Given the description of an element on the screen output the (x, y) to click on. 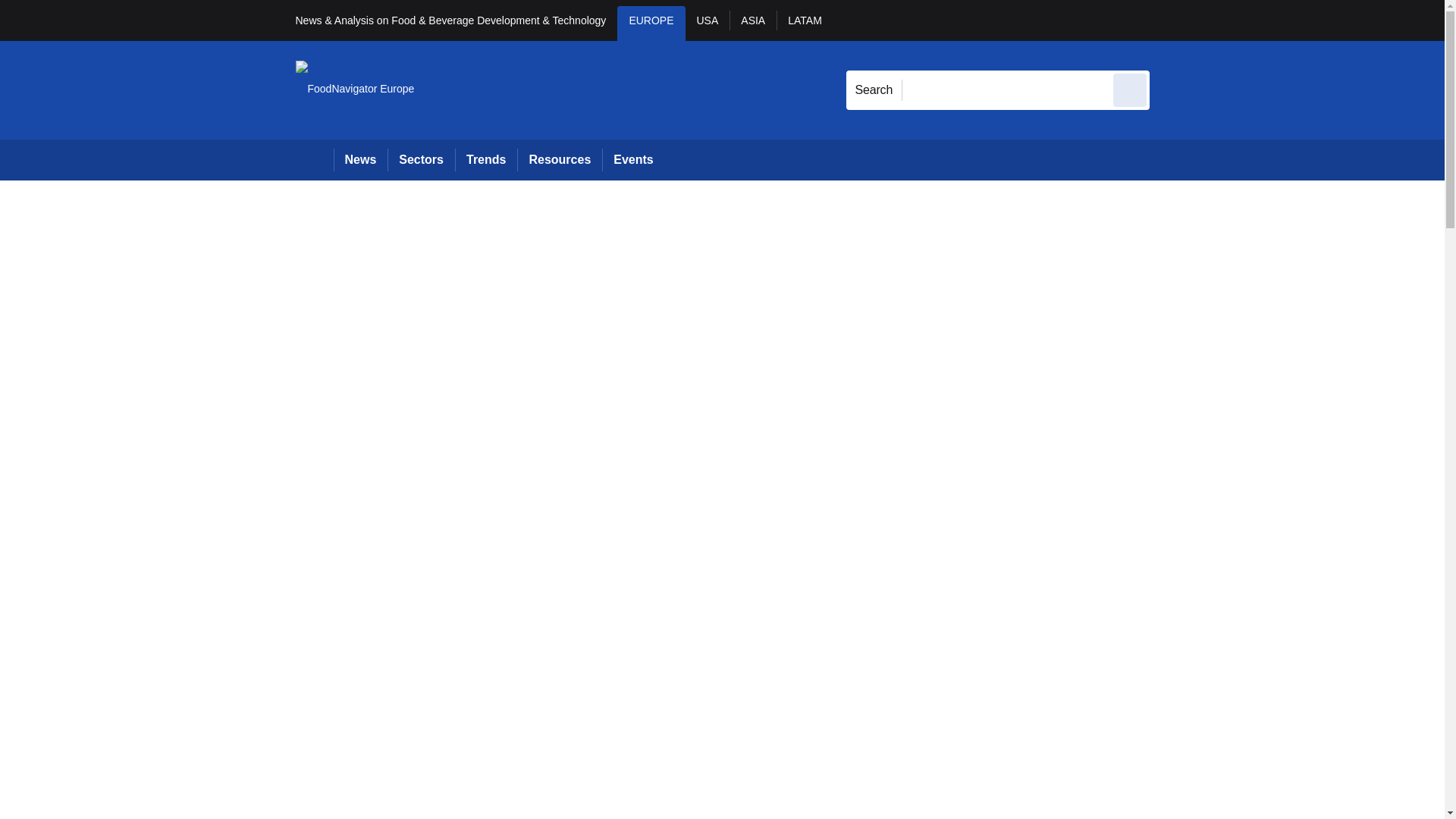
Home (314, 159)
Sectors (420, 159)
ASIA (752, 22)
Sign in (1171, 20)
EUROPE (650, 22)
Home (313, 159)
Sign out (1174, 20)
USA (707, 22)
LATAM (804, 22)
Send (1129, 89)
News (360, 159)
Send (1129, 90)
REGISTER (1250, 20)
FoodNavigator Europe (354, 89)
My account (1256, 20)
